Given the description of an element on the screen output the (x, y) to click on. 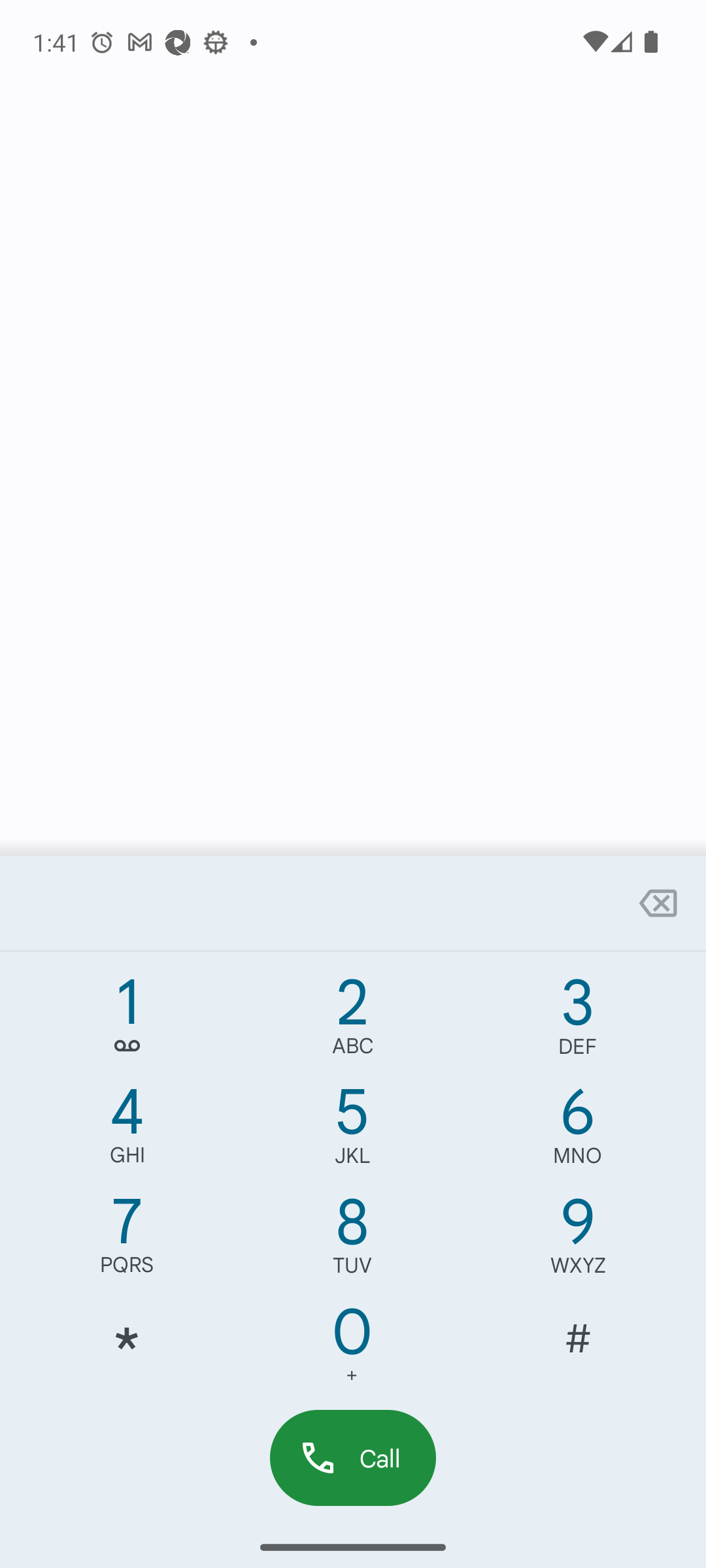
backspace (657, 903)
1, 1 (127, 1020)
2,ABC 2 ABC (352, 1020)
3,DEF 3 DEF (578, 1020)
4,GHI 4 GHI (127, 1130)
5,JKL 5 JKL (352, 1130)
6,MNO 6 MNO (578, 1130)
7,PQRS 7 PQRS (127, 1240)
8,TUV 8 TUV (352, 1240)
9,WXYZ 9 WXYZ (578, 1240)
* (127, 1349)
0 0 + (352, 1349)
# (578, 1349)
Call dial (352, 1457)
